Given the description of an element on the screen output the (x, y) to click on. 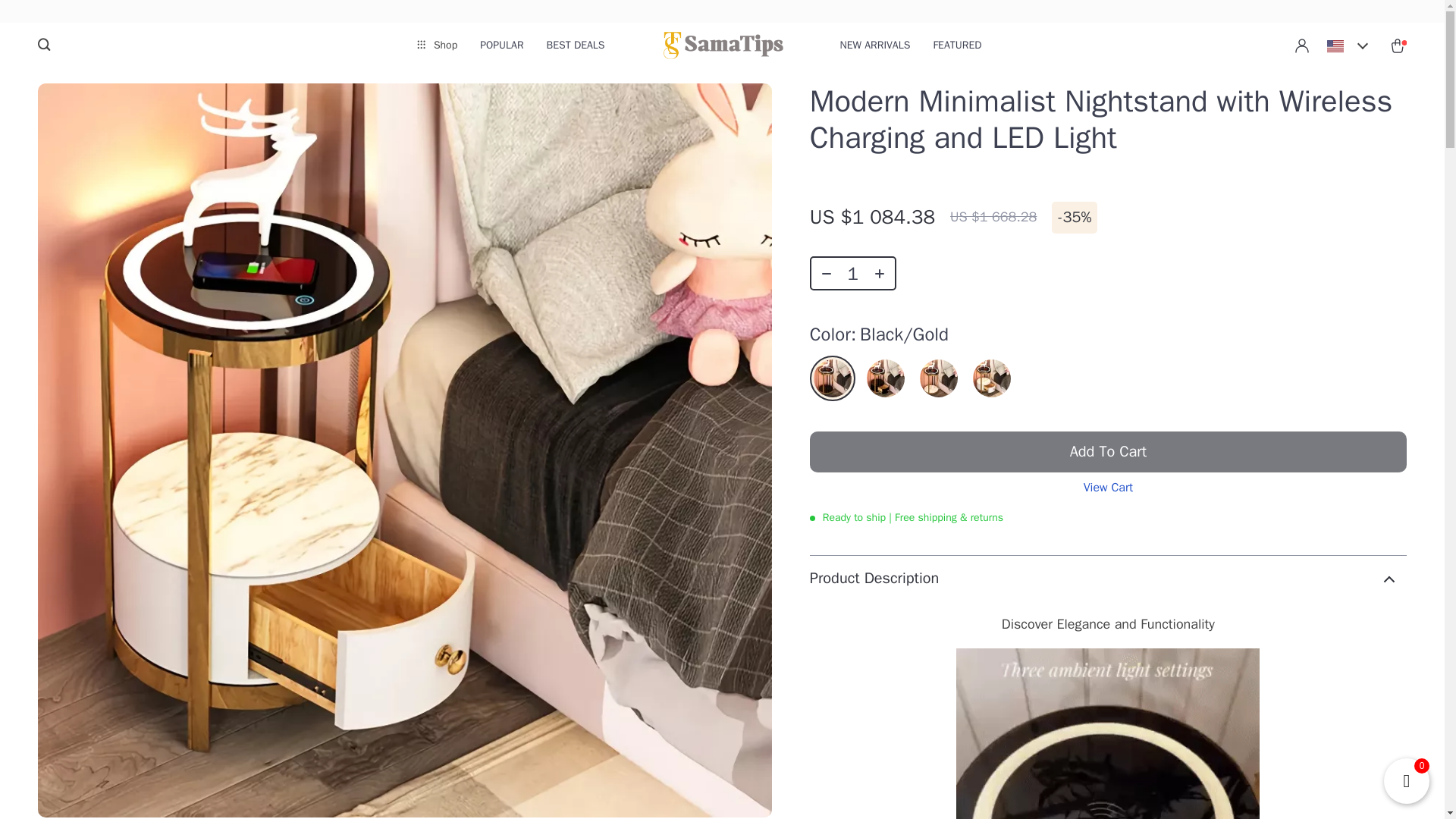
1 (1107, 733)
1 (852, 272)
POPULAR (501, 45)
